Given the description of an element on the screen output the (x, y) to click on. 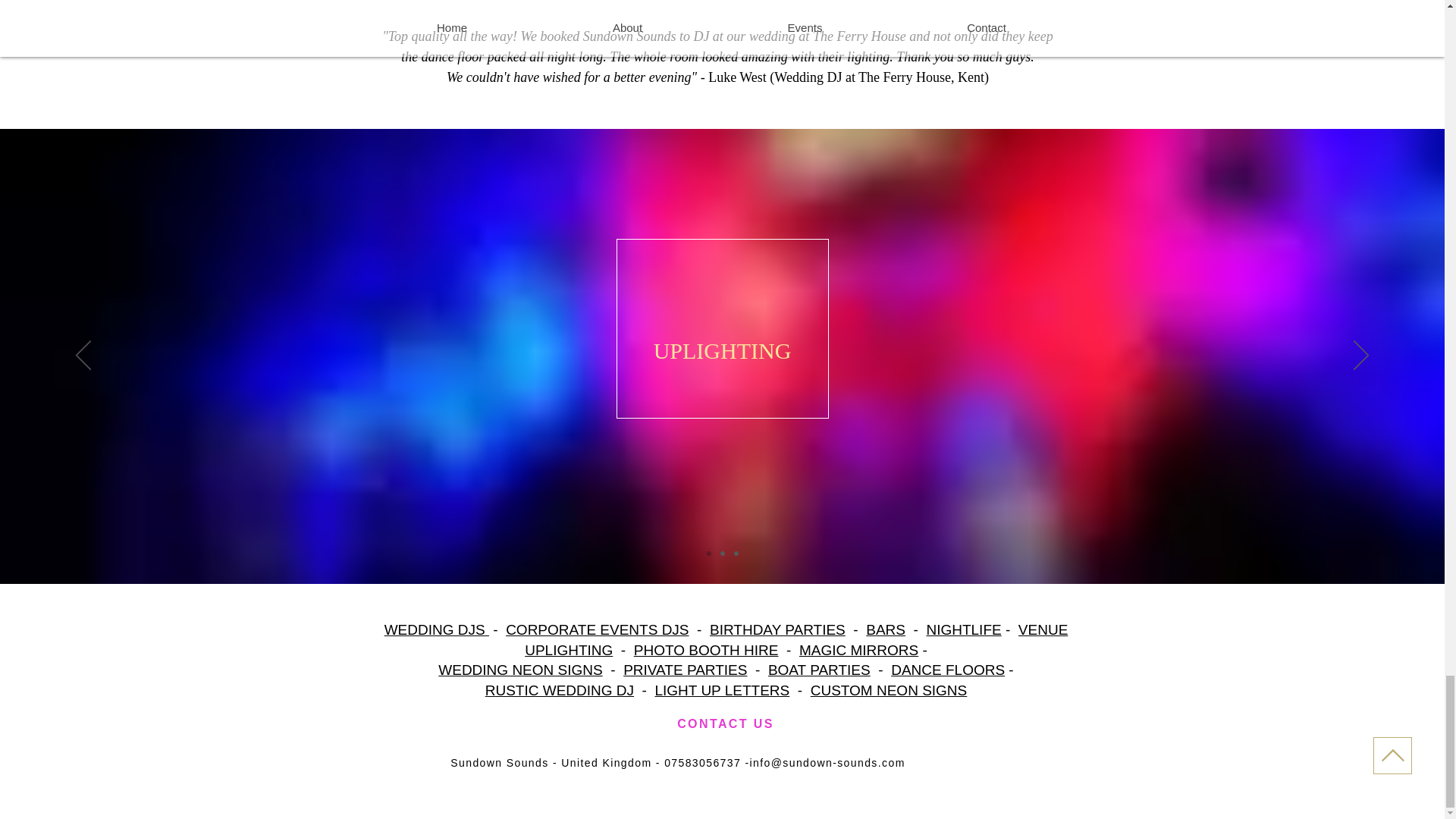
PRIVATE PARTIES (684, 669)
BOAT PARTIES (819, 669)
BARS (885, 629)
CORPORATE EVENTS DJS (596, 629)
WEDDING DJS  (436, 629)
VENUE UPLIGHTING (795, 639)
NIGHTLIFE (963, 629)
LIGHT UP LETTERS (722, 690)
DANCE FLOORS (947, 669)
WEDDING NEON SIGNS (520, 669)
RUSTIC WEDDING DJ (558, 690)
MAGIC MIRRORS (858, 650)
BIRTHDAY PARTIES (777, 629)
PHOTO BOOTH HIRE (705, 650)
